Given the description of an element on the screen output the (x, y) to click on. 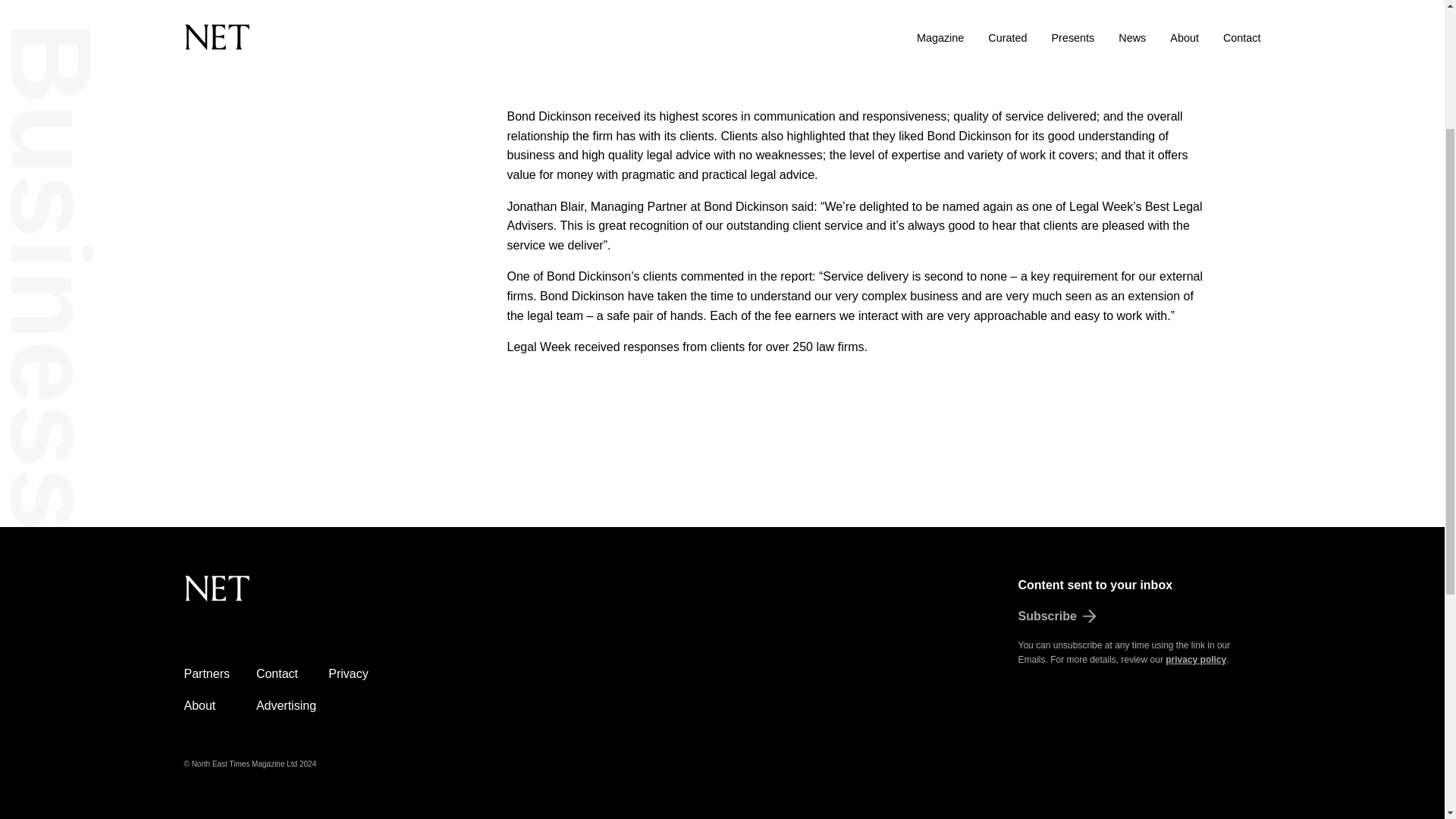
About (199, 705)
Read our full privacy notice (1195, 659)
privacy policy (1195, 659)
Contact (277, 673)
Advertising (285, 705)
Partners (205, 673)
Subscribe (1138, 616)
Privacy (348, 673)
Subscribe to the North East Times Magazine newsletter (1138, 616)
Return to the top of this page (293, 596)
